Given the description of an element on the screen output the (x, y) to click on. 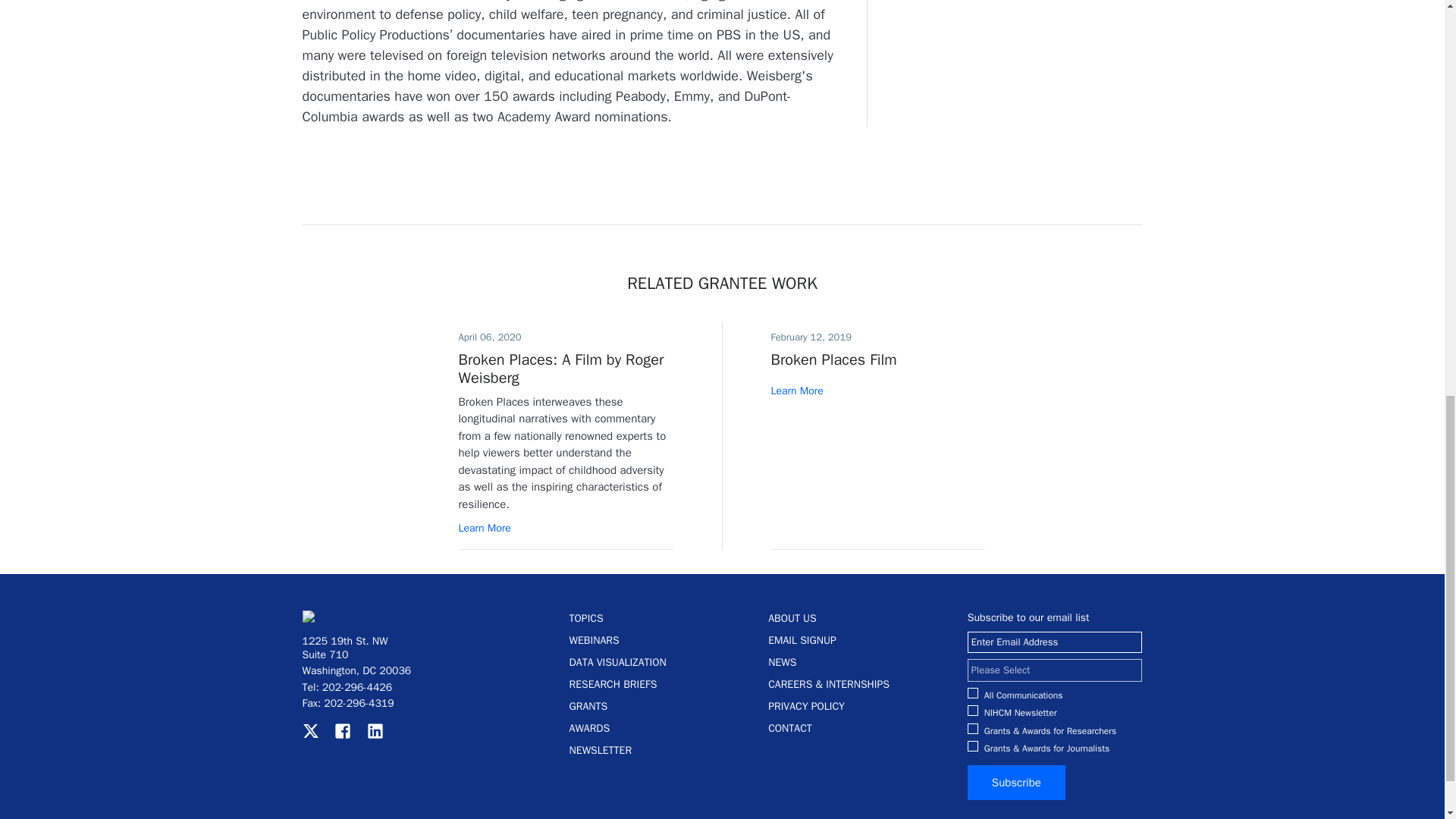
Subscribe (1016, 782)
